Given the description of an element on the screen output the (x, y) to click on. 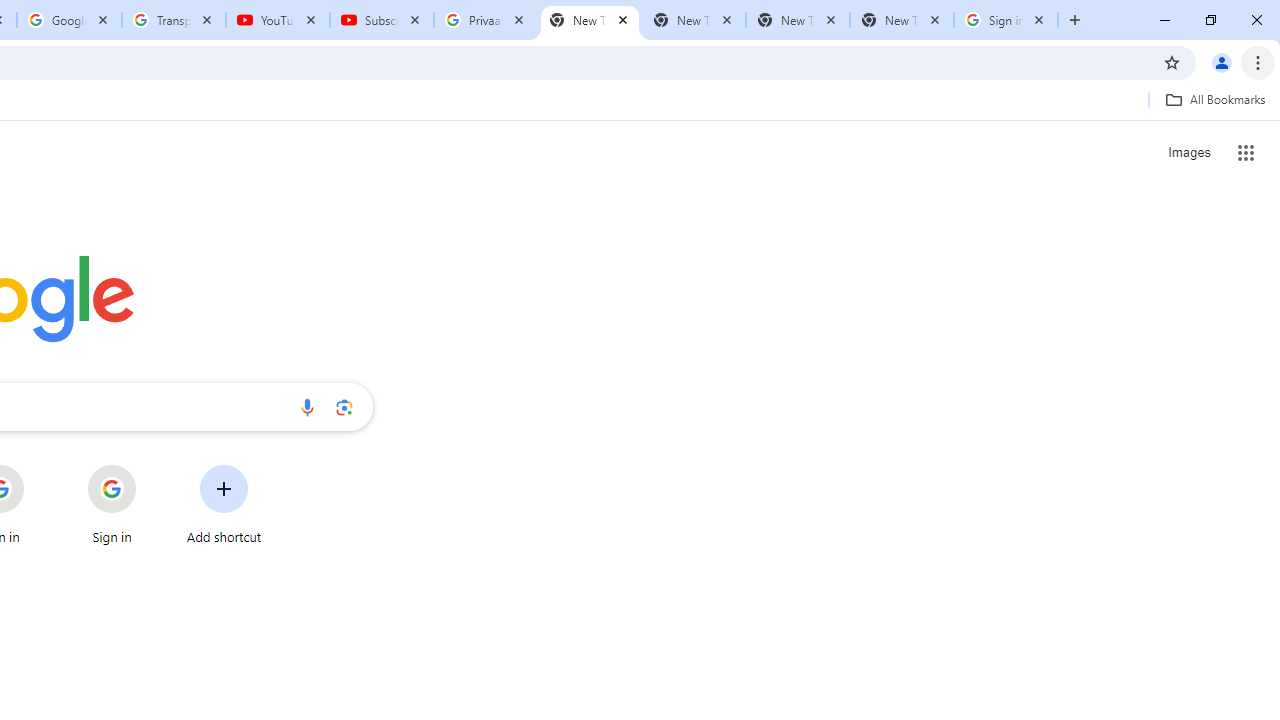
Search by image (344, 407)
YouTube (278, 20)
